Given the description of an element on the screen output the (x, y) to click on. 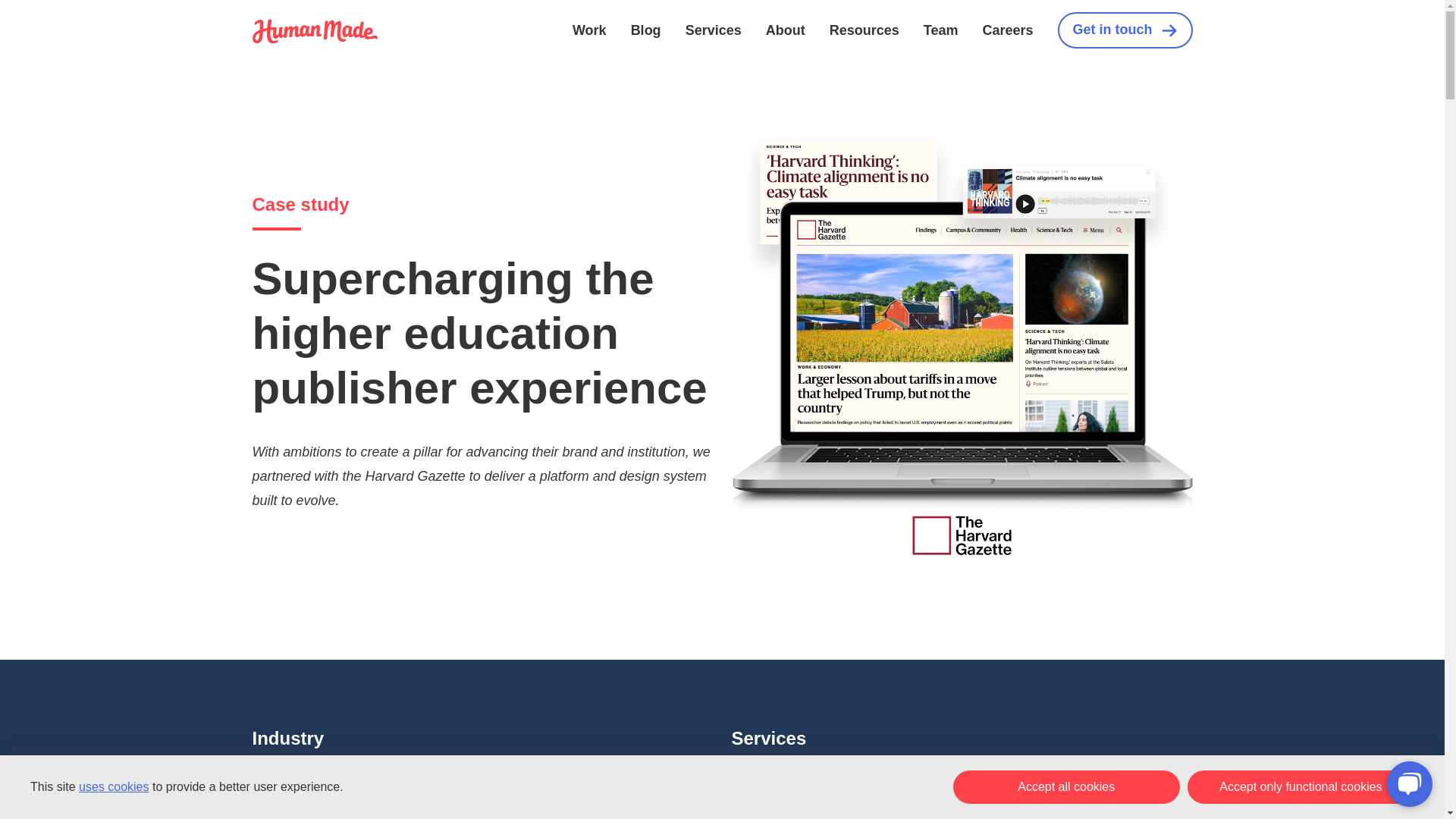
Human Made (314, 38)
Blog (645, 29)
Higher education (322, 796)
Team (940, 29)
Services (713, 29)
Get in touch (1124, 29)
Work (589, 29)
About (785, 29)
Human Made (314, 31)
Resources (864, 29)
Bespoke development (817, 796)
Careers (1006, 29)
